Given the description of an element on the screen output the (x, y) to click on. 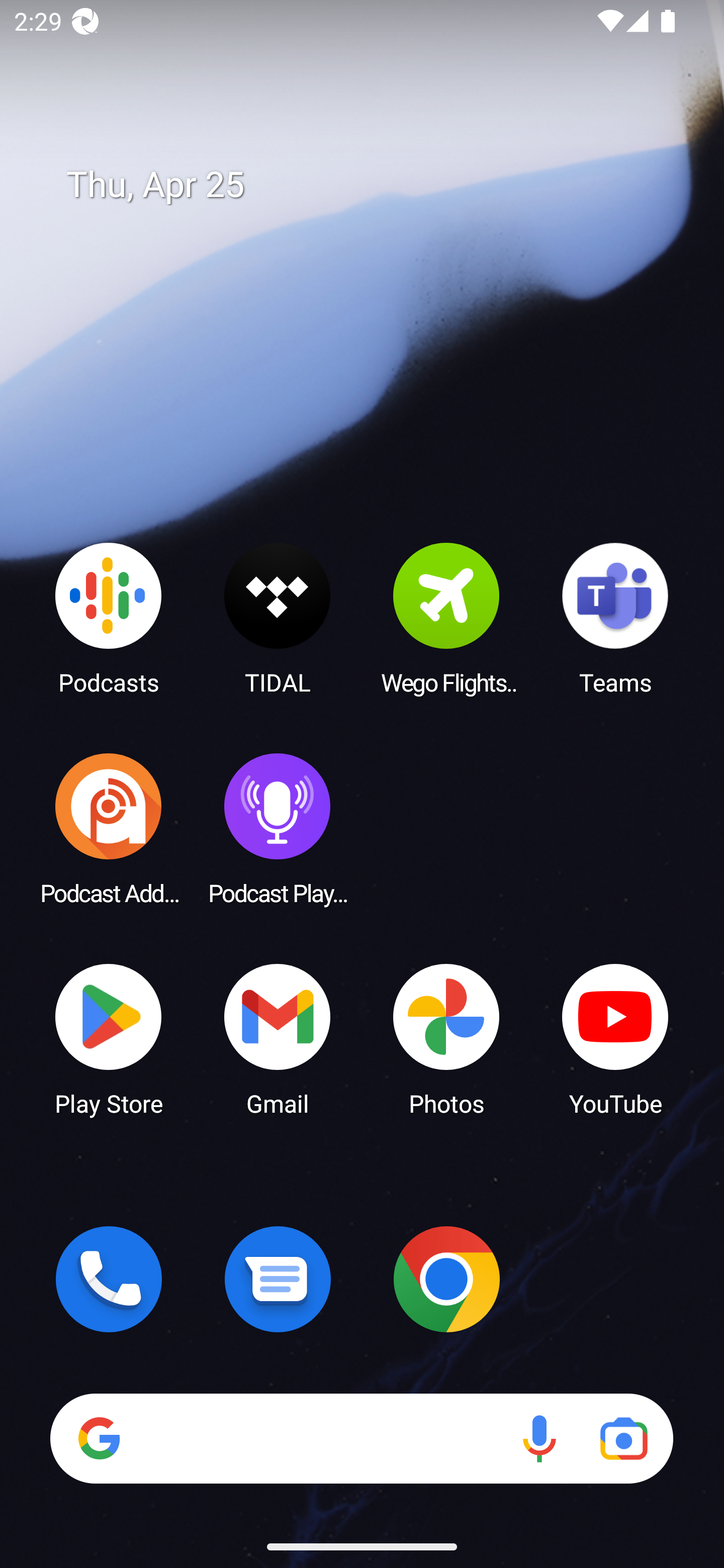
Thu, Apr 25 (375, 184)
Podcasts (108, 617)
TIDAL (277, 617)
Wego Flights & Hotels (445, 617)
Teams (615, 617)
Podcast Addict (108, 828)
Podcast Player (277, 828)
Play Store (108, 1038)
Gmail (277, 1038)
Photos (445, 1038)
YouTube (615, 1038)
Phone (108, 1279)
Messages (277, 1279)
Chrome (446, 1279)
Search Voice search Google Lens (361, 1438)
Voice search (539, 1438)
Google Lens (623, 1438)
